Given the description of an element on the screen output the (x, y) to click on. 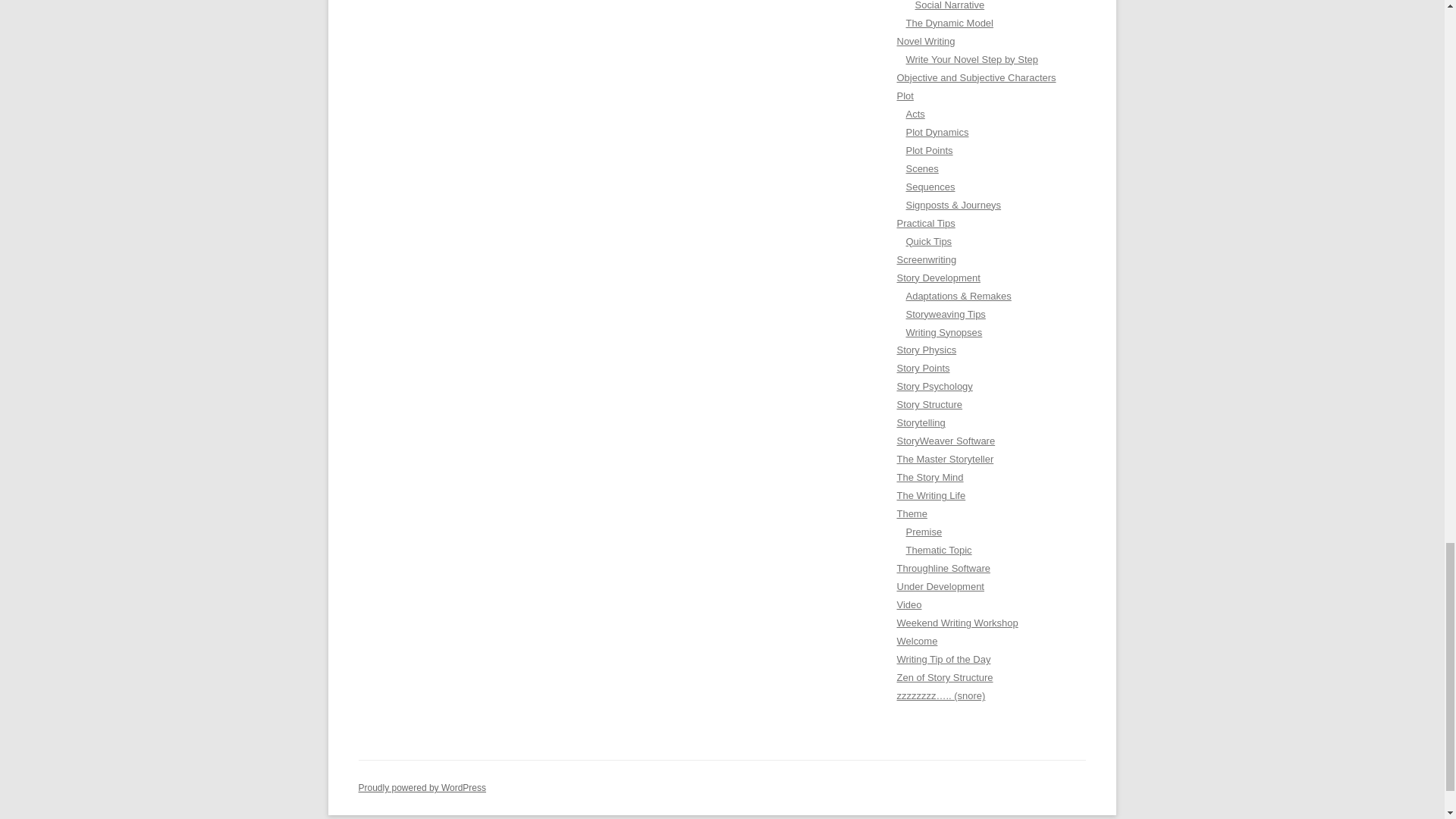
Semantic Personal Publishing Platform (422, 787)
